Given the description of an element on the screen output the (x, y) to click on. 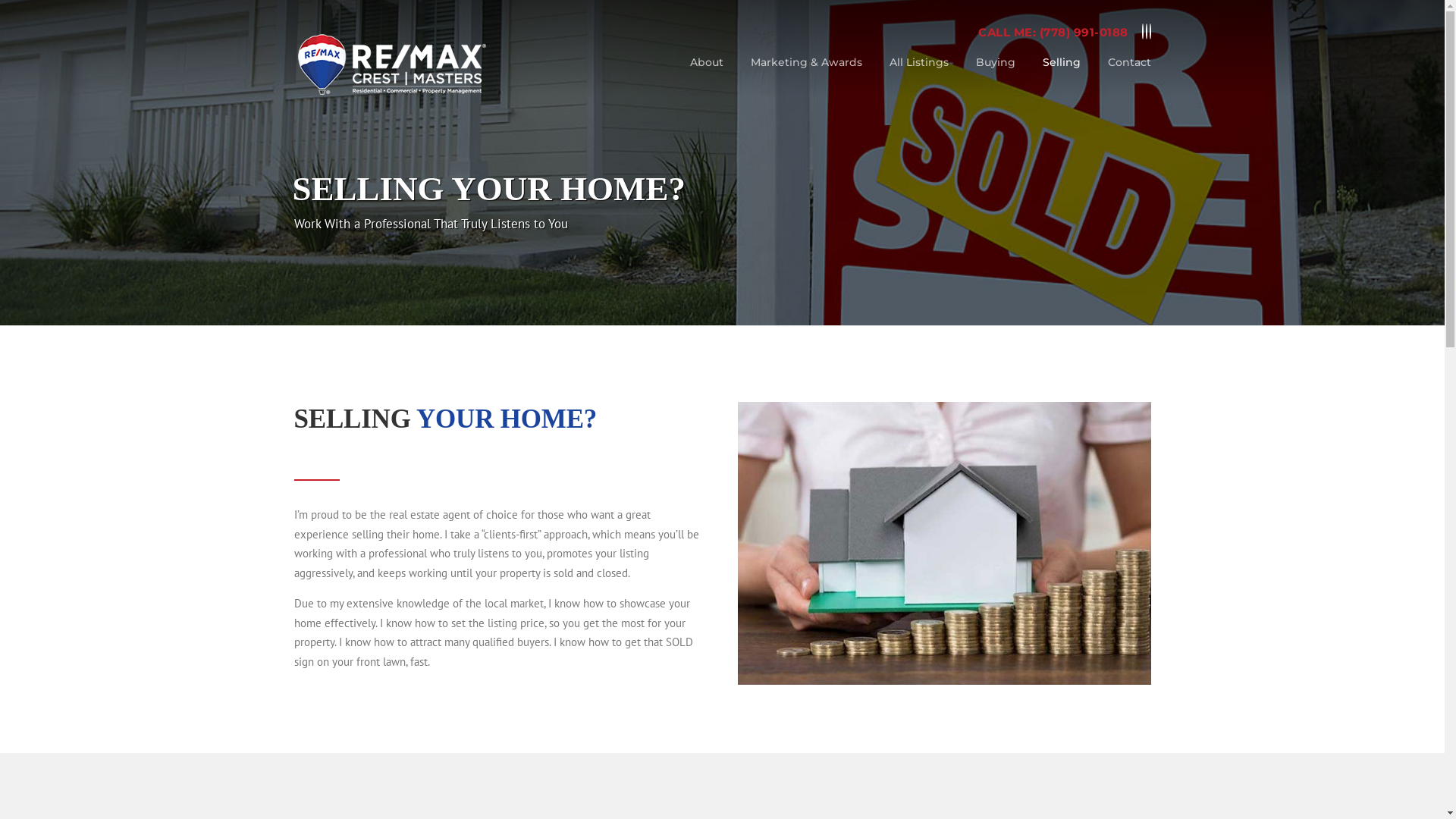
Marketing & Awards Element type: text (806, 73)
Selling Element type: text (1060, 73)
All Listings Element type: text (918, 73)
Facebook Element type: hover (1142, 31)
About Element type: text (706, 73)
Instagram Element type: hover (1145, 31)
Buying Element type: text (994, 73)
Anthony England Element type: hover (391, 63)
Contact Element type: text (1121, 73)
Email Element type: hover (1150, 31)
CALL ME: (778) 991-0188 Element type: text (1053, 32)
